Given the description of an element on the screen output the (x, y) to click on. 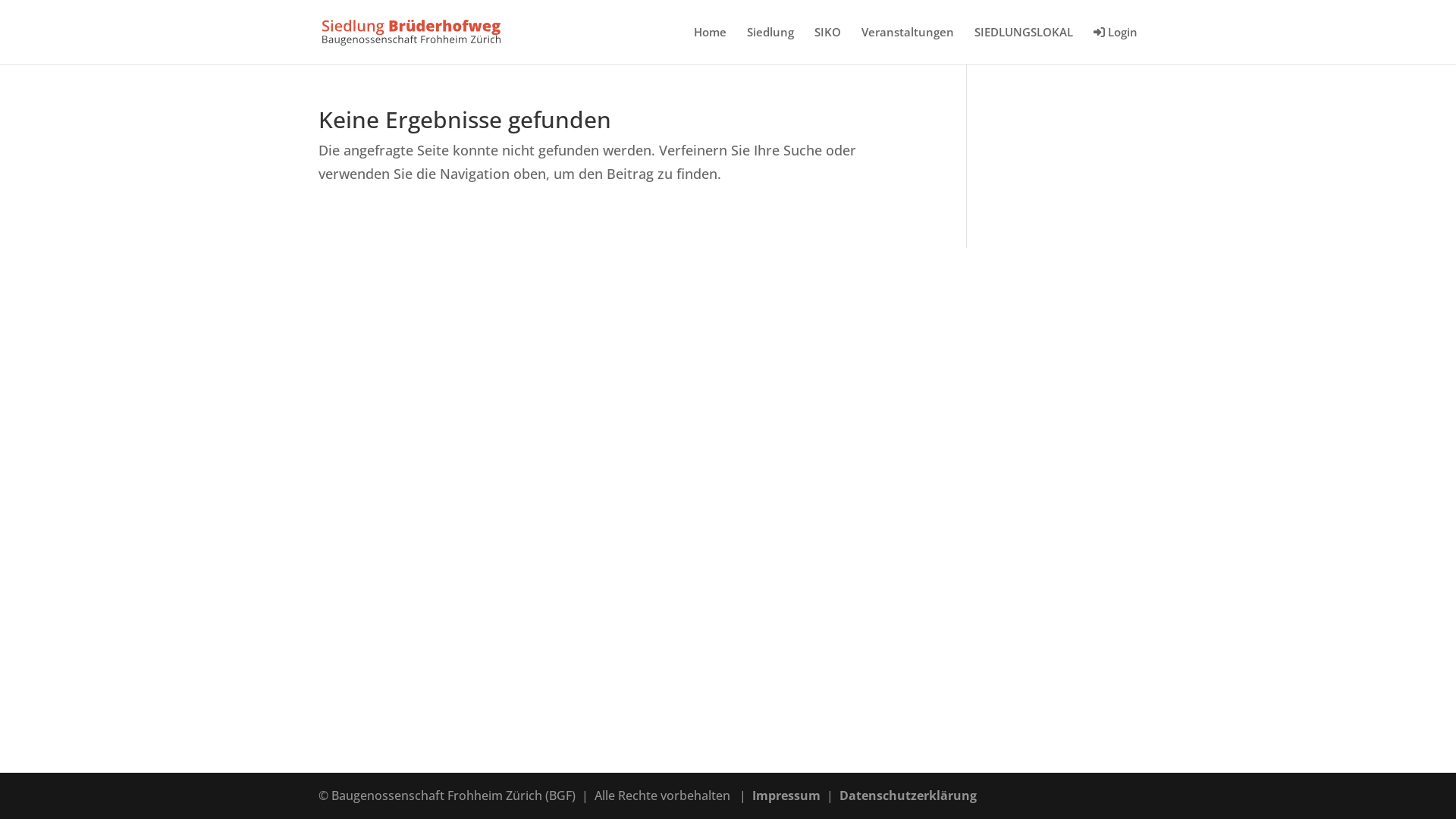
Home Element type: text (709, 44)
Impressum Element type: text (786, 795)
Login Element type: text (1115, 45)
SIEDLUNGSLOKAL Element type: text (1023, 44)
Siedlung Element type: text (769, 44)
Veranstaltungen Element type: text (907, 44)
SIKO Element type: text (827, 44)
